Given the description of an element on the screen output the (x, y) to click on. 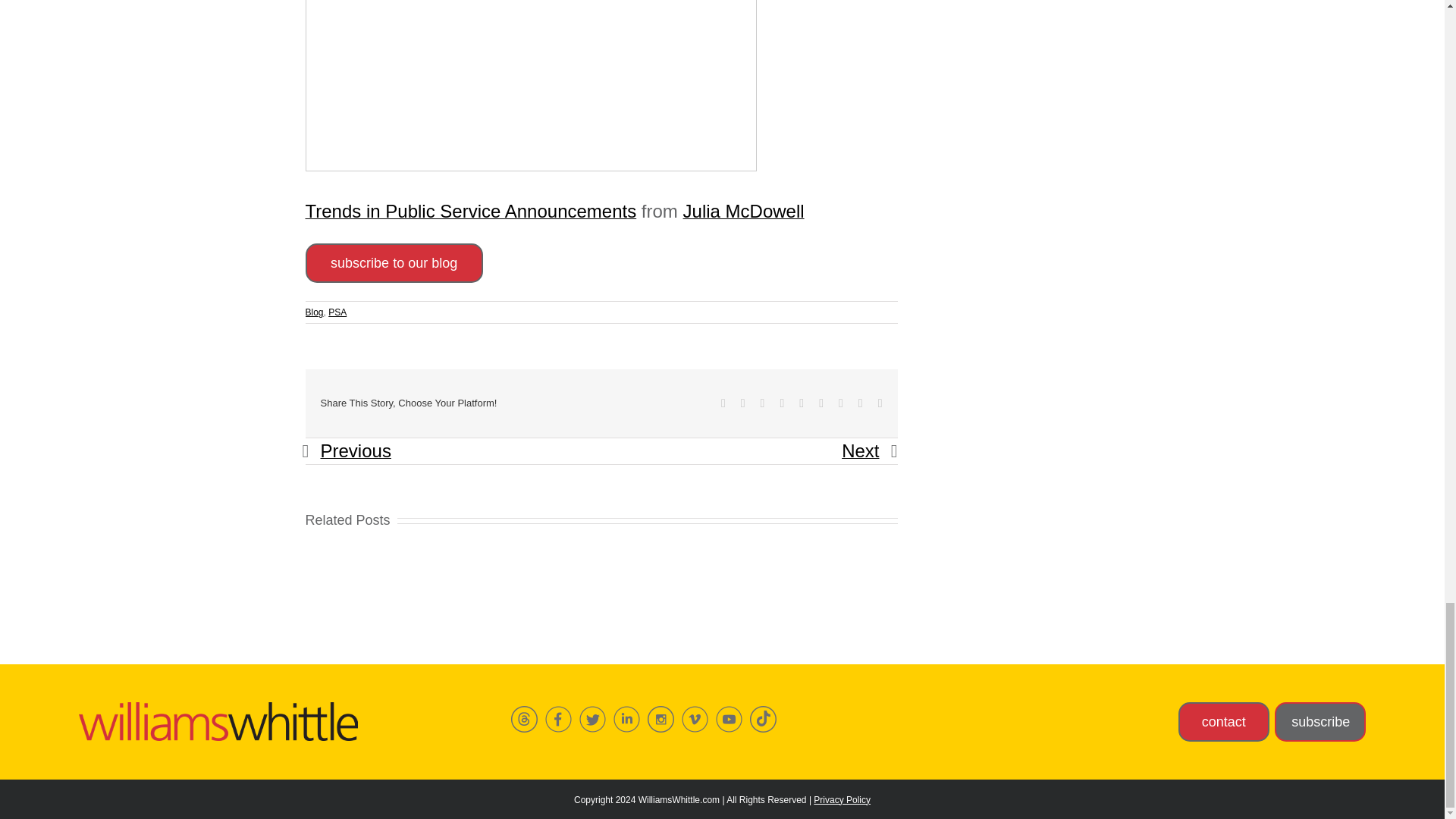
Trends in Public Service Announcements (470, 210)
